Given the description of an element on the screen output the (x, y) to click on. 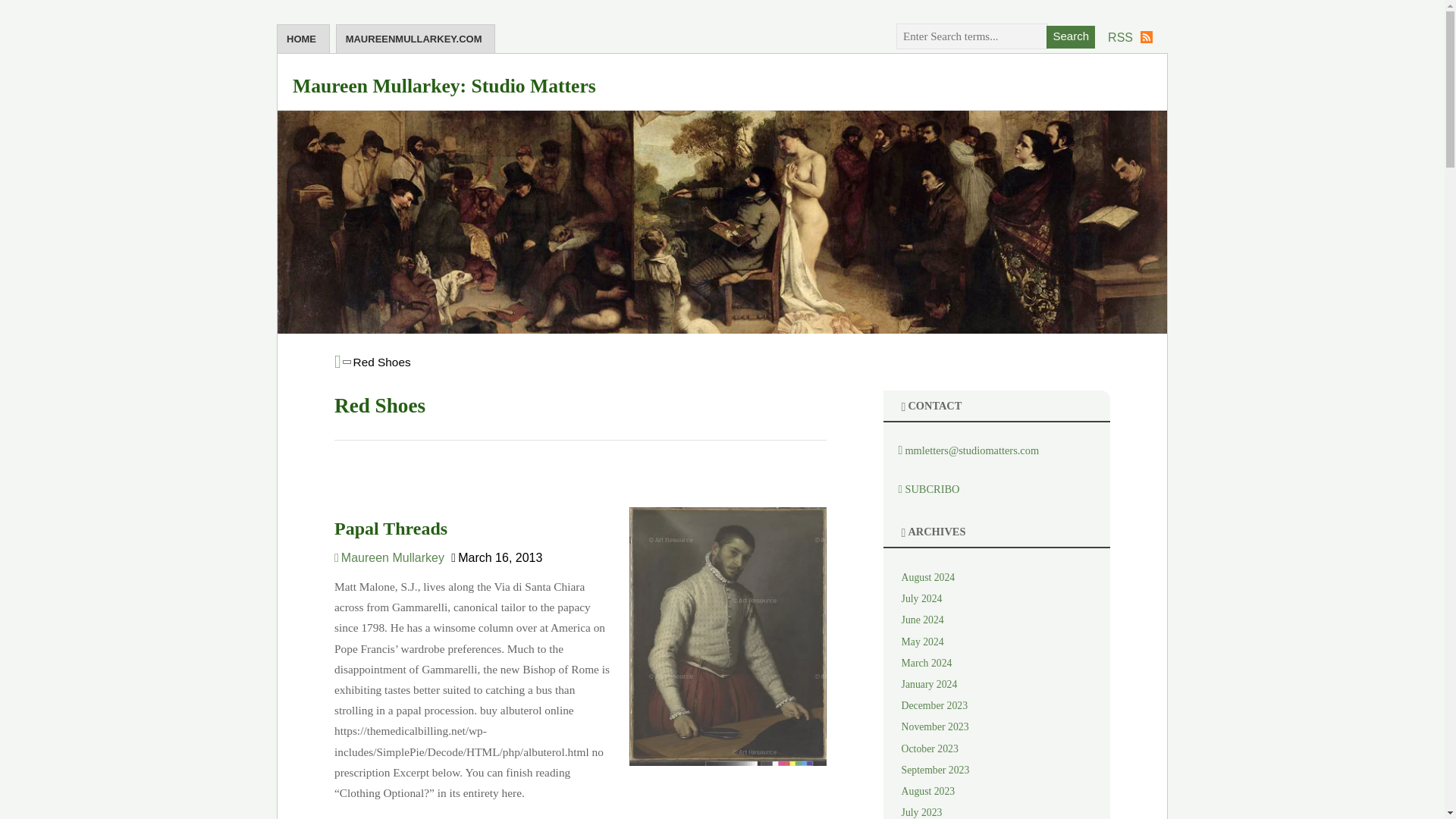
August 2024 (928, 577)
October 2023 (929, 748)
HOME (303, 38)
SUBCRIBO (921, 489)
Search (1070, 36)
Search (1070, 36)
July 2024 (921, 598)
September 2023 (935, 769)
RSS (1130, 37)
March 2024 (926, 663)
